Given the description of an element on the screen output the (x, y) to click on. 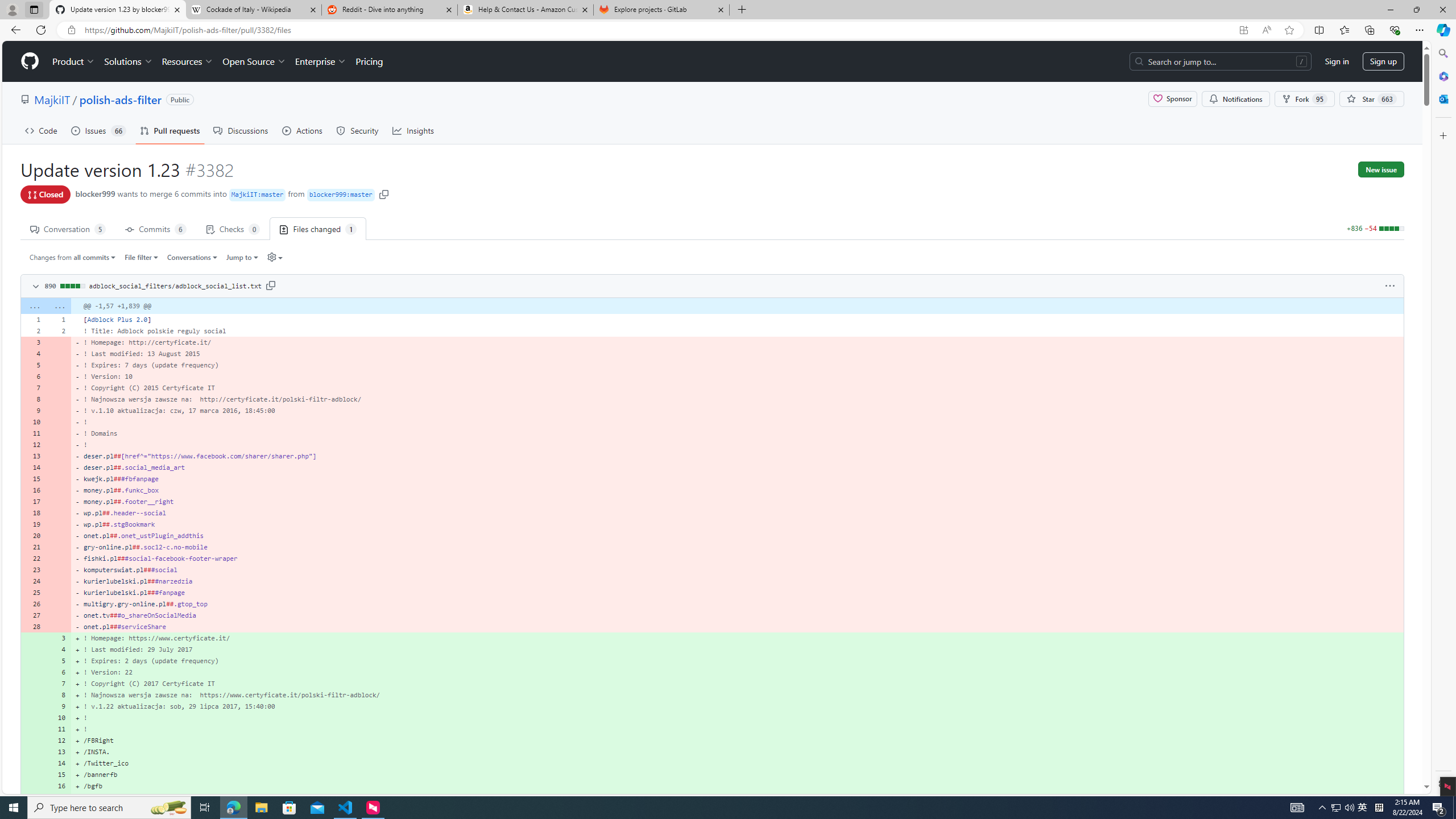
! Title: Adblock polskie reguly social (737, 330)
- onet.pl##.onet_ustPlugin_addthis (737, 535)
Cockade of Italy - Wikipedia (253, 9)
- money.pl##.funkc_box (737, 490)
- fishki.pl###social-facebook-footer-wraper (737, 558)
2 (58, 330)
Class: blob-num blob-num-addition empty-cell (33, 797)
Toggle diff contents (34, 286)
4 (58, 649)
20 (33, 535)
3 (58, 637)
Open Source (254, 60)
Show options (1390, 285)
